Given the description of an element on the screen output the (x, y) to click on. 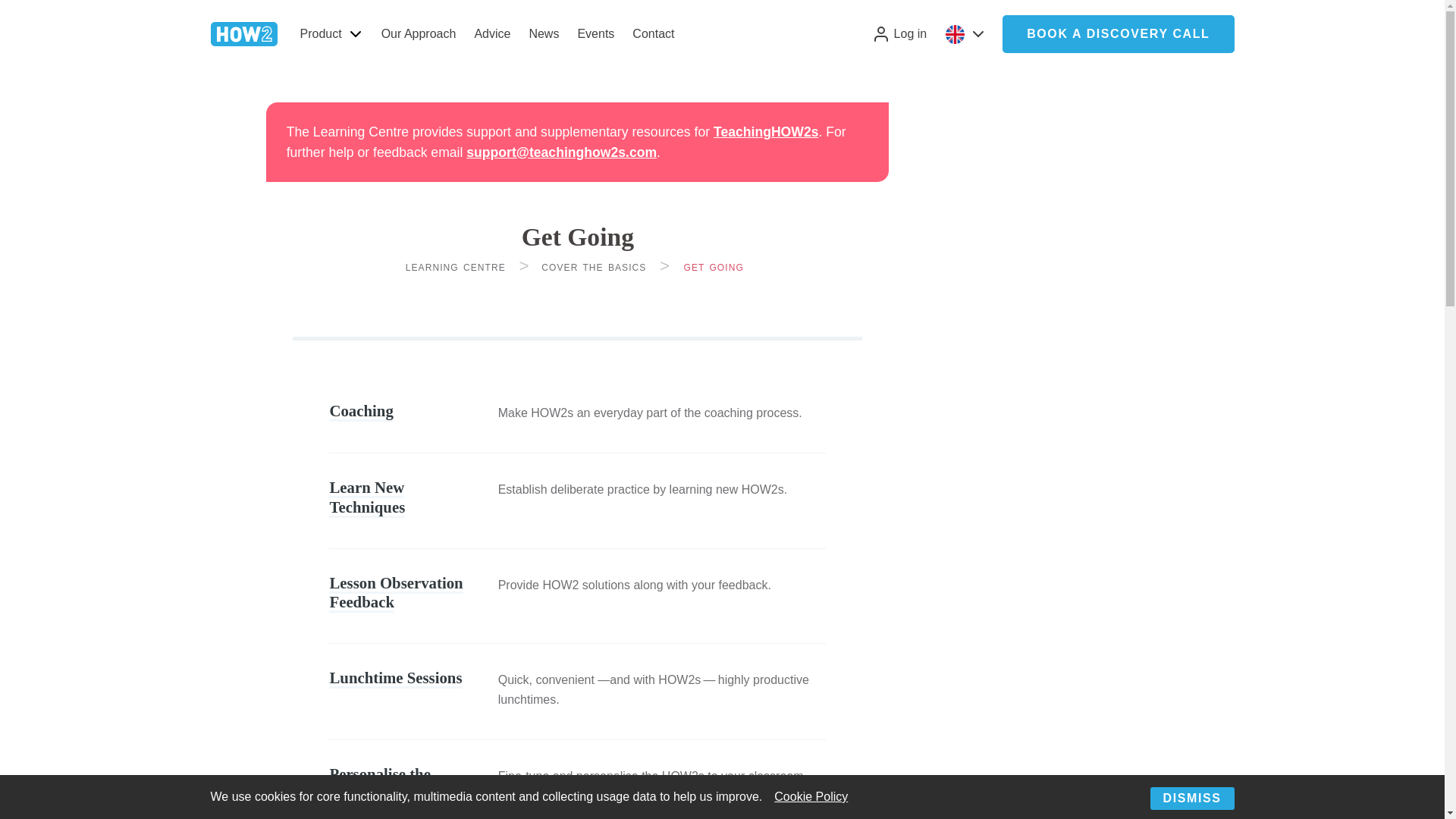
Product (316, 33)
LEARNING CENTRE (454, 267)
Learn New Techniques (366, 497)
COVER THE BASICS (593, 267)
Events (595, 33)
Log in (897, 33)
Cookie Policy (810, 796)
Lesson Observation Feedback (396, 593)
Coaching (361, 411)
Contact (652, 33)
Our Approach (418, 33)
TeachingHOW2s (765, 131)
BOOK A DISCOVERY CALL (1118, 34)
DISMISS (1191, 798)
News (543, 33)
